Given the description of an element on the screen output the (x, y) to click on. 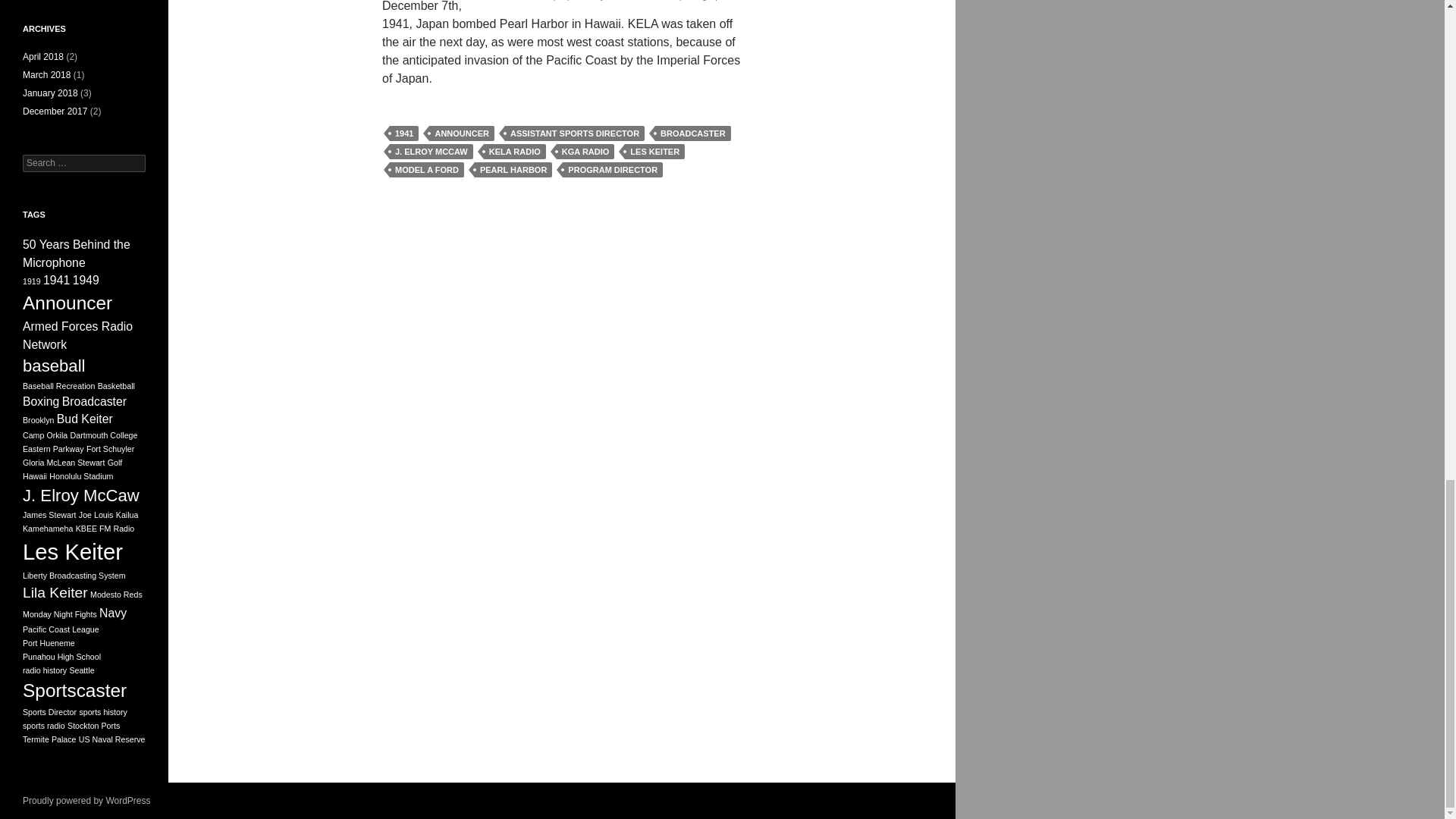
LES KEITER (654, 151)
ASSISTANT SPORTS DIRECTOR (575, 133)
KELA RADIO (514, 151)
J. ELROY MCCAW (431, 151)
ANNOUNCER (462, 133)
PEARL HARBOR (512, 169)
BROADCASTER (692, 133)
1941 (404, 133)
PROGRAM DIRECTOR (612, 169)
KGA RADIO (585, 151)
